Given the description of an element on the screen output the (x, y) to click on. 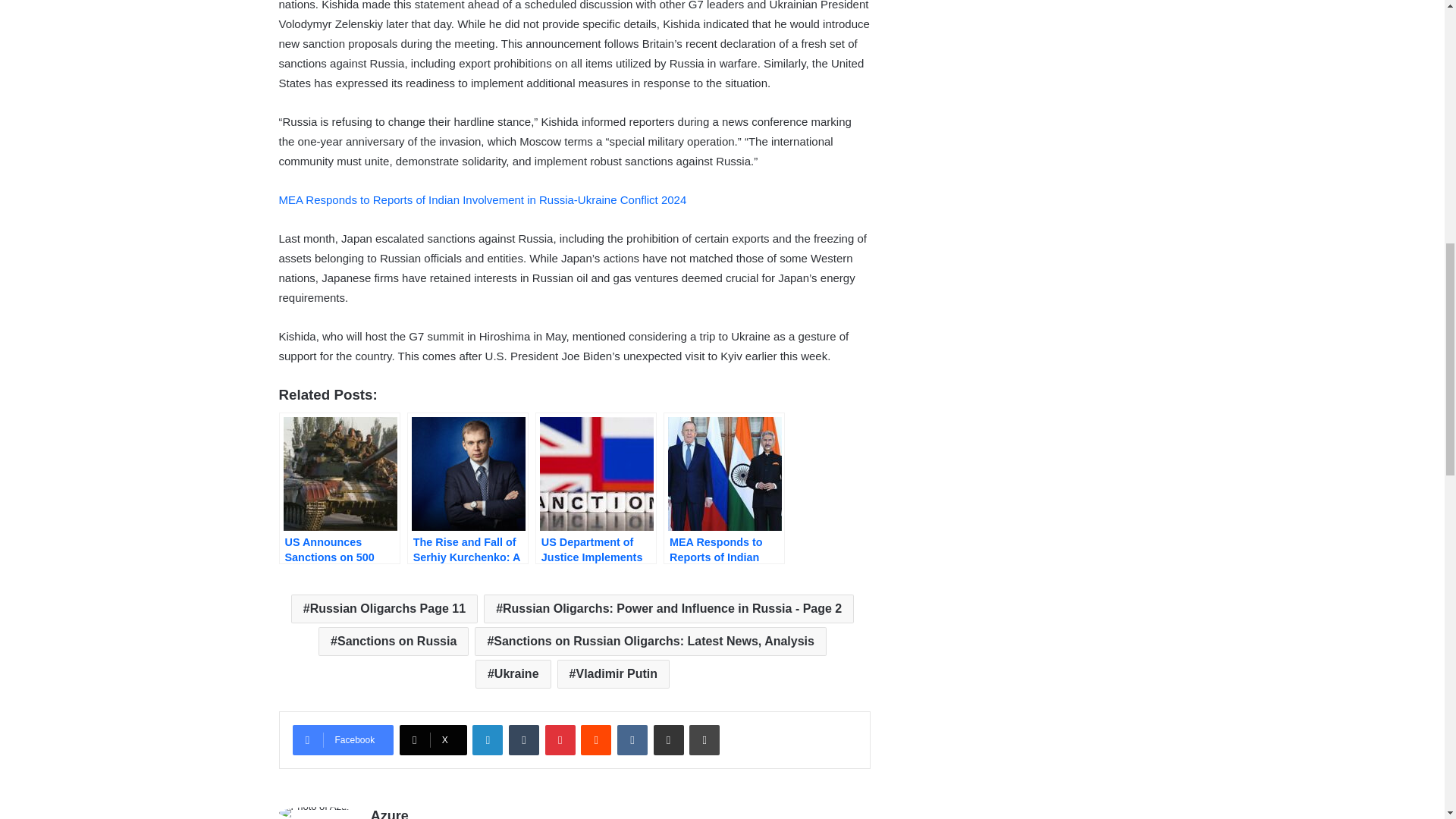
Tumblr (523, 739)
X (432, 739)
Facebook (343, 739)
LinkedIn (486, 739)
